Given the description of an element on the screen output the (x, y) to click on. 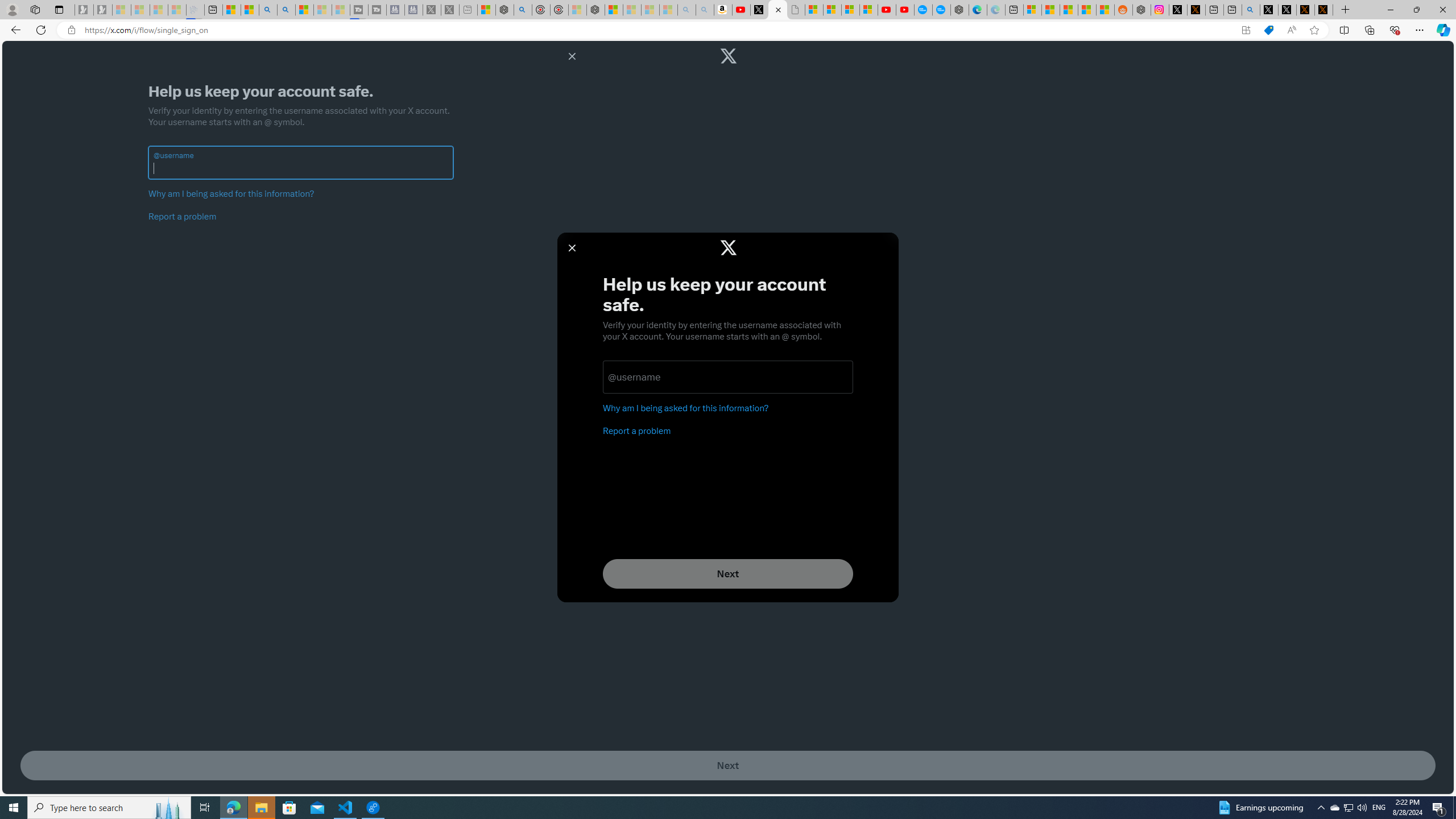
amazon - Search - Sleeping (686, 9)
Untitled (795, 9)
X Privacy Policy (1324, 9)
Why am I being asked for this information? (231, 194)
Microsoft Start - Sleeping (322, 9)
